Given the description of an element on the screen output the (x, y) to click on. 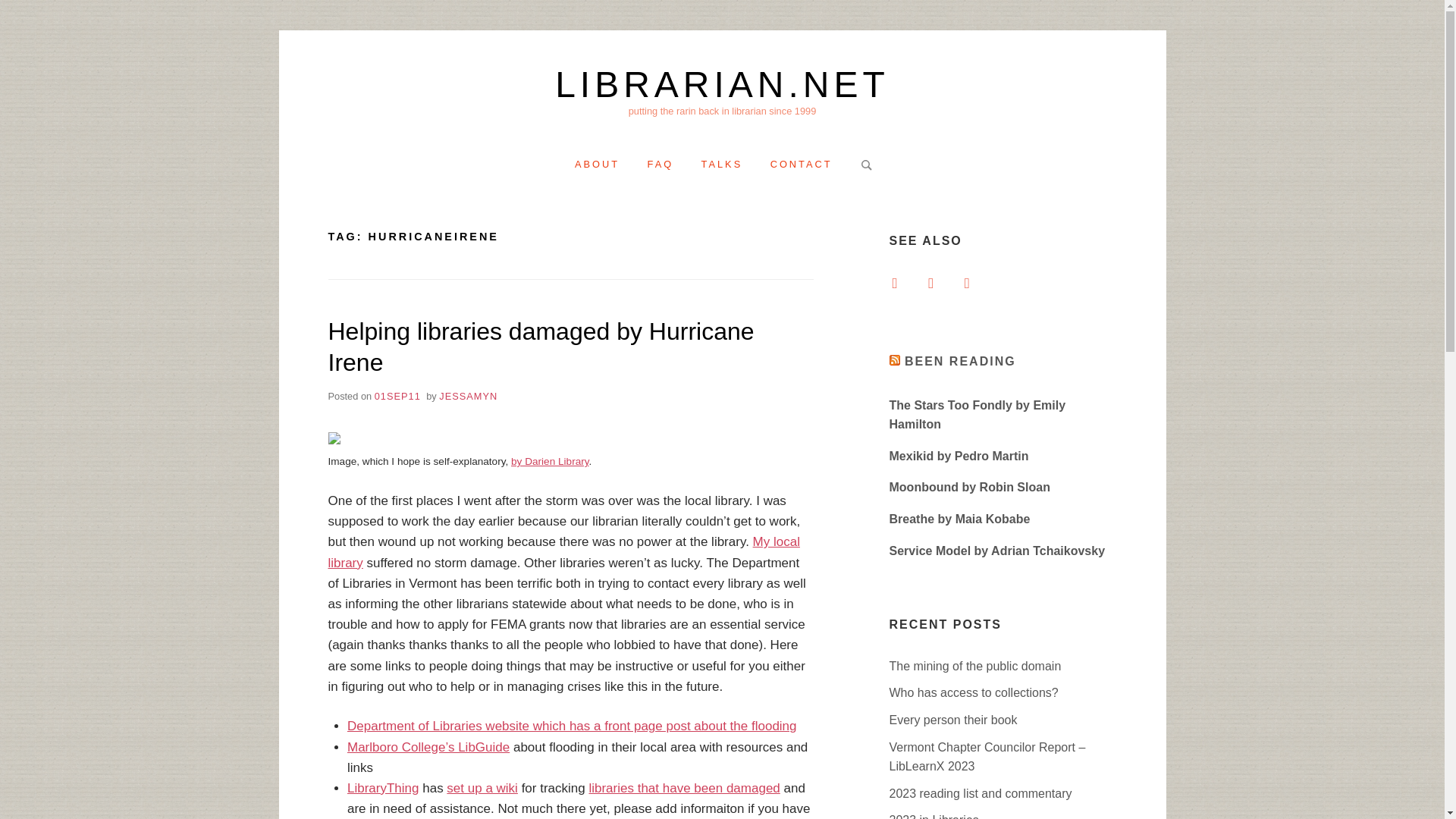
faq (660, 163)
facebook (893, 282)
TALKS (722, 163)
My local library (563, 551)
libraries that have been damaged (683, 788)
JESSAMYN (468, 396)
LibraryThing (383, 788)
Instagram (930, 282)
Helping libraries damaged by Hurricane Irene (540, 346)
01SEP11 (397, 396)
